Given the description of an element on the screen output the (x, y) to click on. 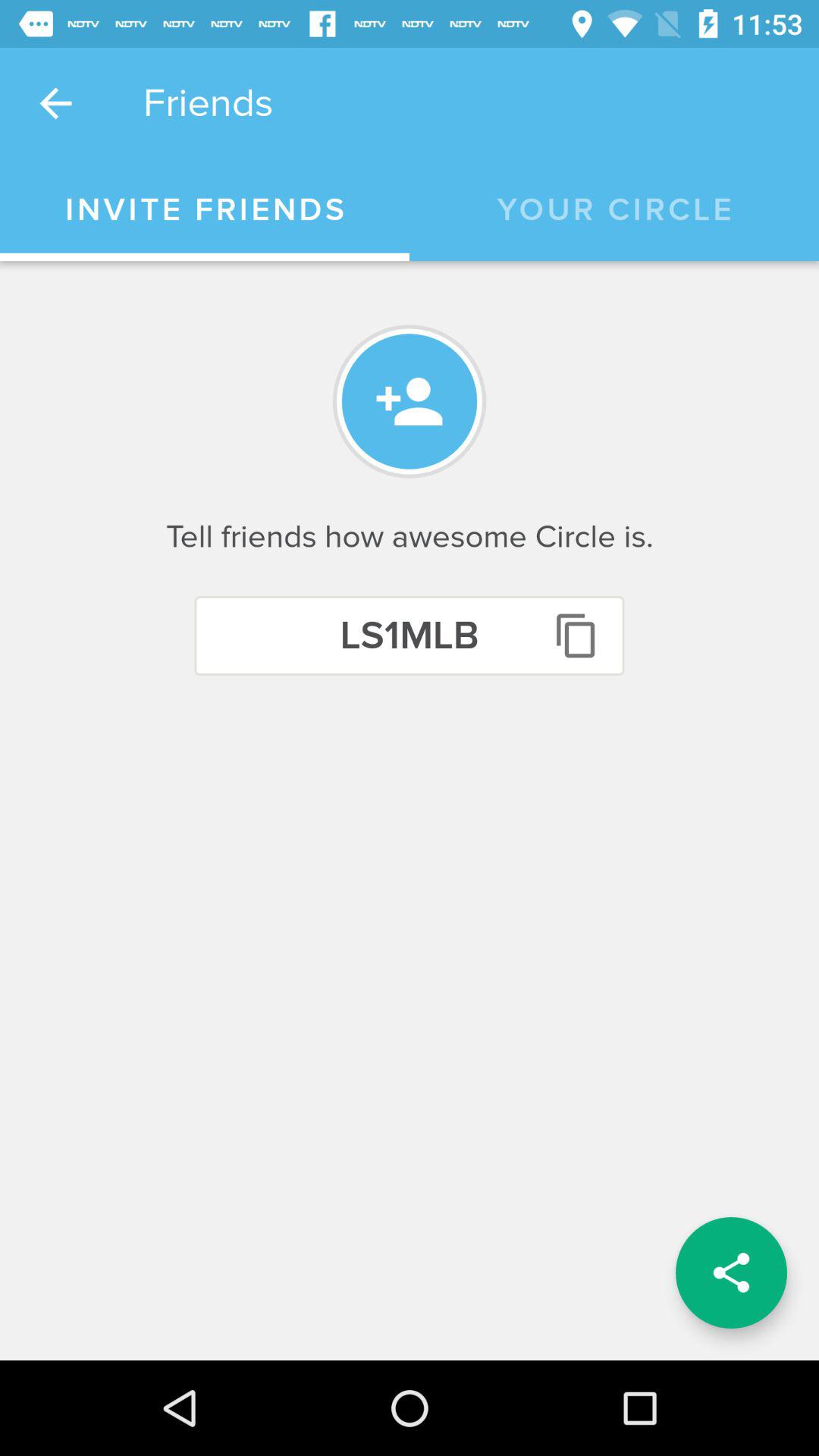
jump until ls1mlb item (409, 635)
